Given the description of an element on the screen output the (x, y) to click on. 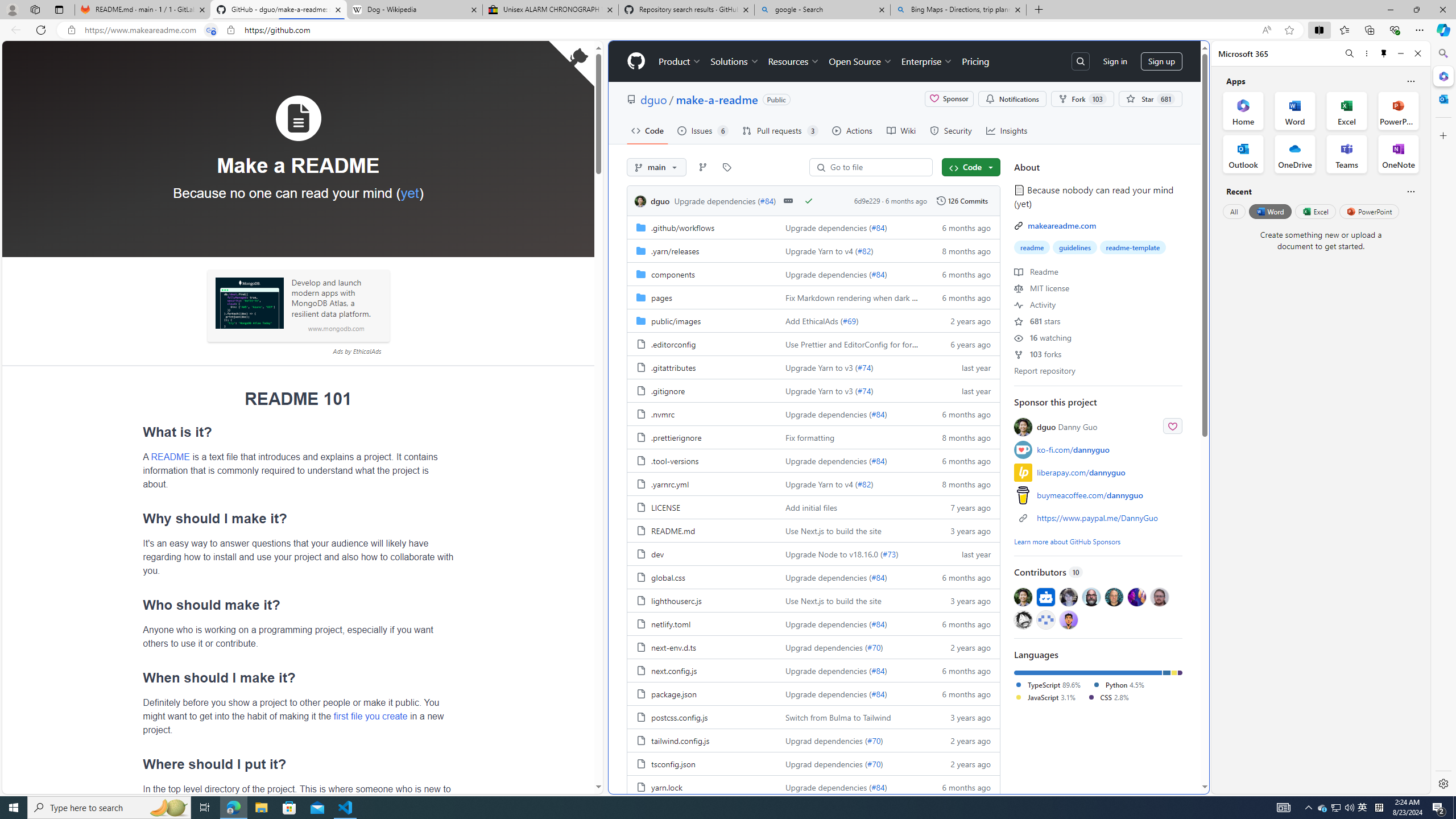
lighthouserc.js, (File) (701, 599)
.editorconfig, (File) (701, 343)
AutomationID: folder-row-23 (813, 763)
Sponsored: MongoDB (249, 302)
@coderberry (1090, 596)
AutomationID: folder-row-7 (813, 390)
Sponsor @dguo (1172, 425)
#70 (873, 763)
tsconfig.json, (File) (701, 763)
AutomationID: folder-row-19 (813, 670)
dguo (640, 201)
 Star 681 (1150, 98)
Ads by EthicalAds (357, 351)
